Given the description of an element on the screen output the (x, y) to click on. 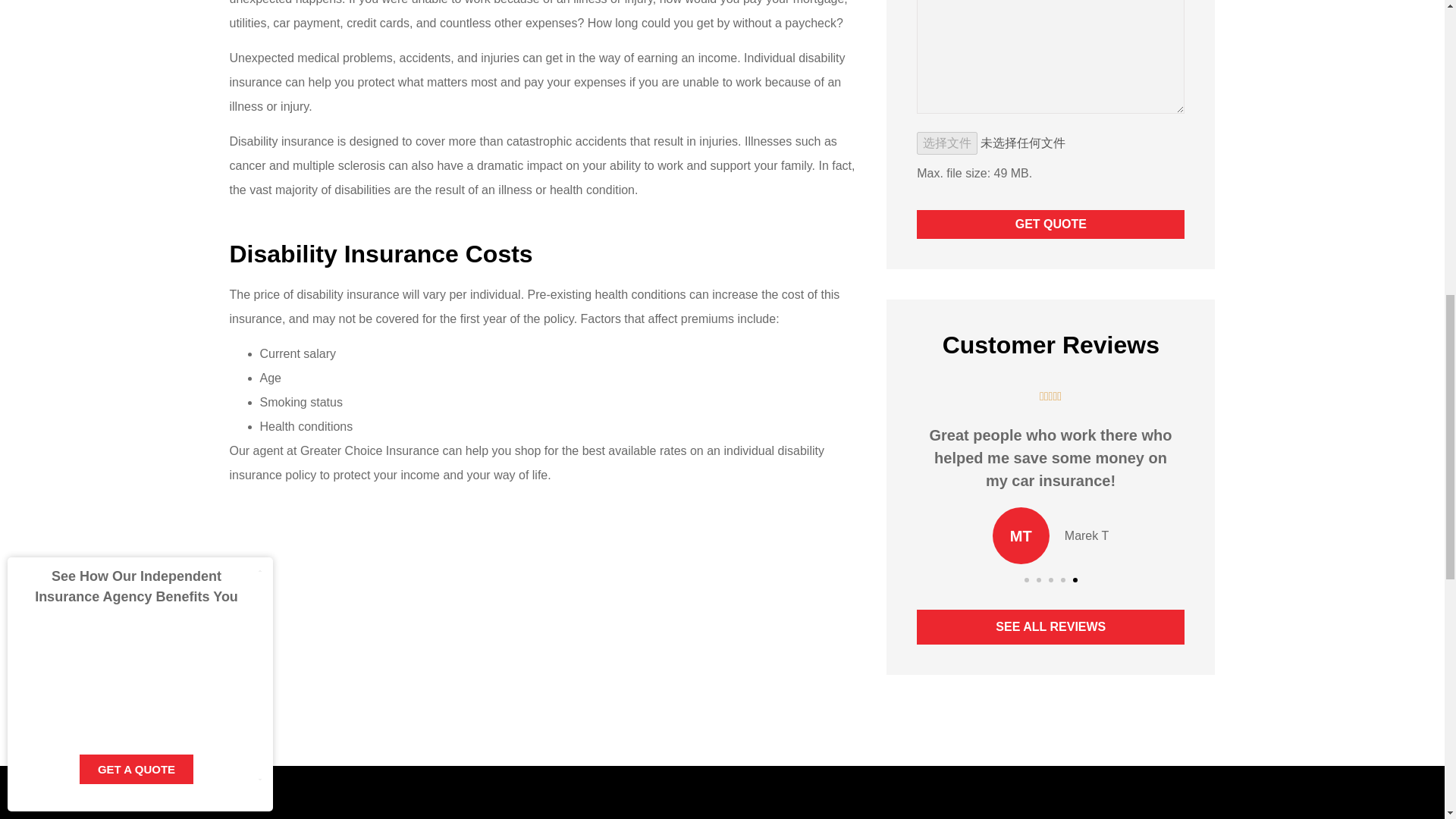
Get Quote (1051, 224)
